Given the description of an element on the screen output the (x, y) to click on. 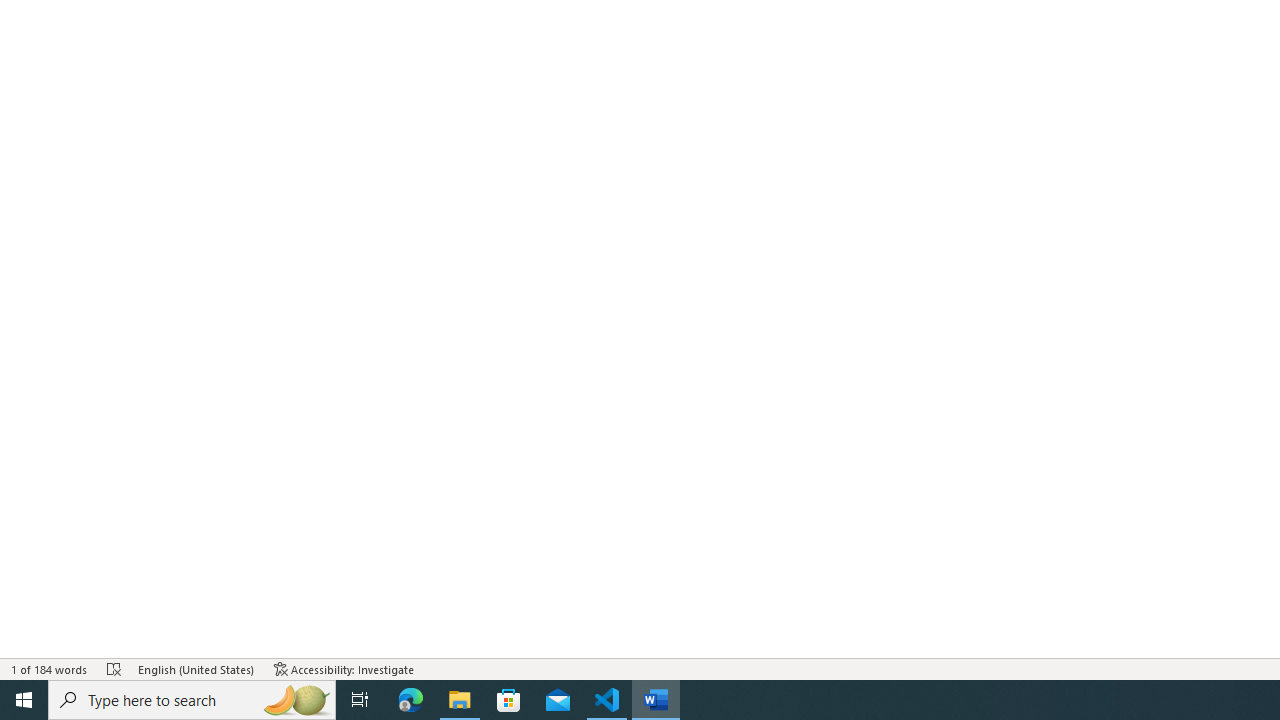
Word - 1 running window (656, 699)
Word Count 1 of 184 words (49, 668)
